Given the description of an element on the screen output the (x, y) to click on. 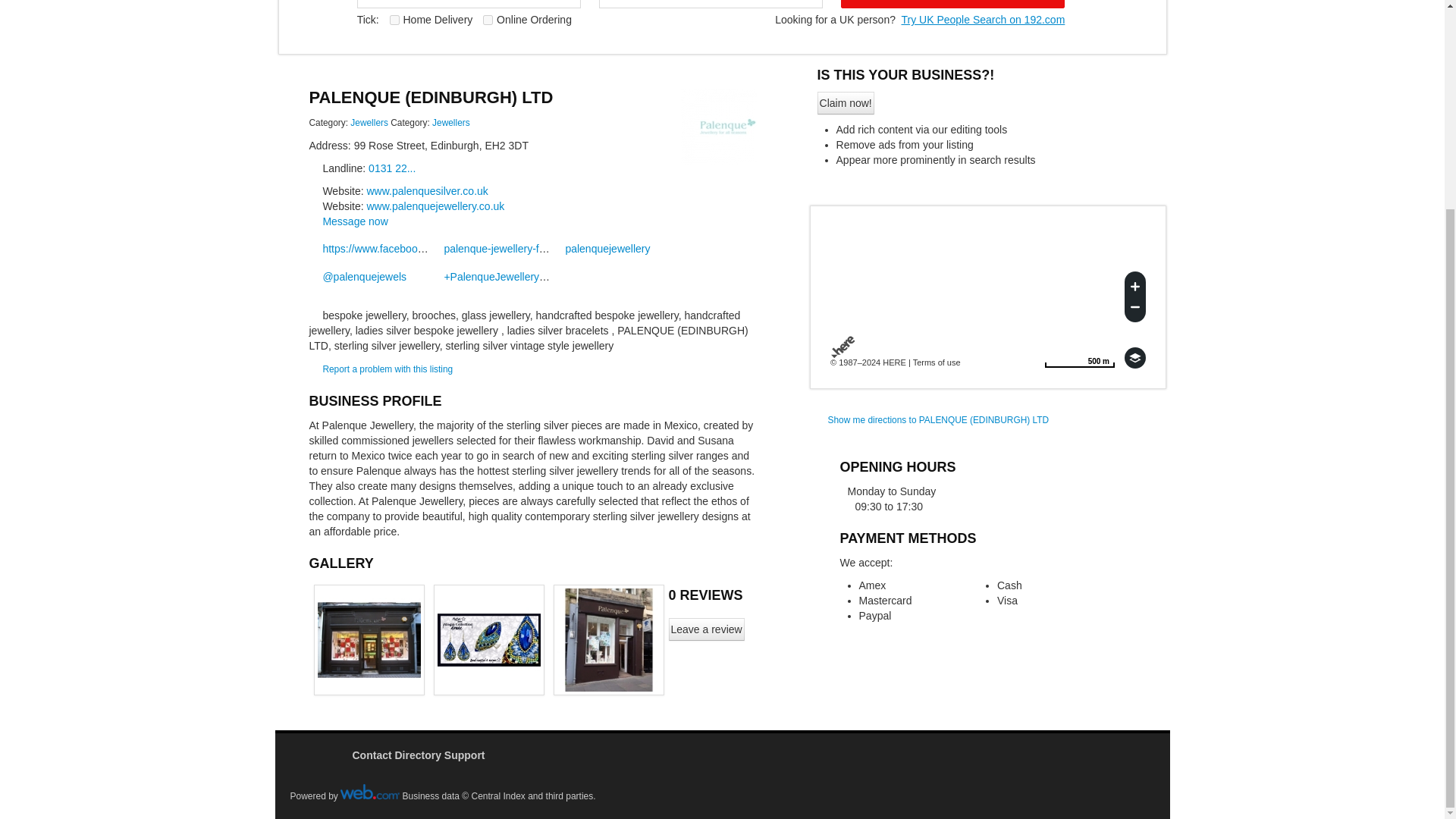
Jewellers (451, 122)
show me more (369, 122)
Choose view (1134, 357)
on (488, 20)
Message now (354, 221)
click to show number (391, 168)
show me more (451, 122)
www.palenquejewellery.co.uk (435, 205)
palenque-jewellery-for-all-seasons (517, 248)
Change to miles (1079, 357)
Search (1079, 357)
Try UK People Search on 192.com (952, 4)
palenquejewellery (982, 19)
Jewellers (600, 248)
